Given the description of an element on the screen output the (x, y) to click on. 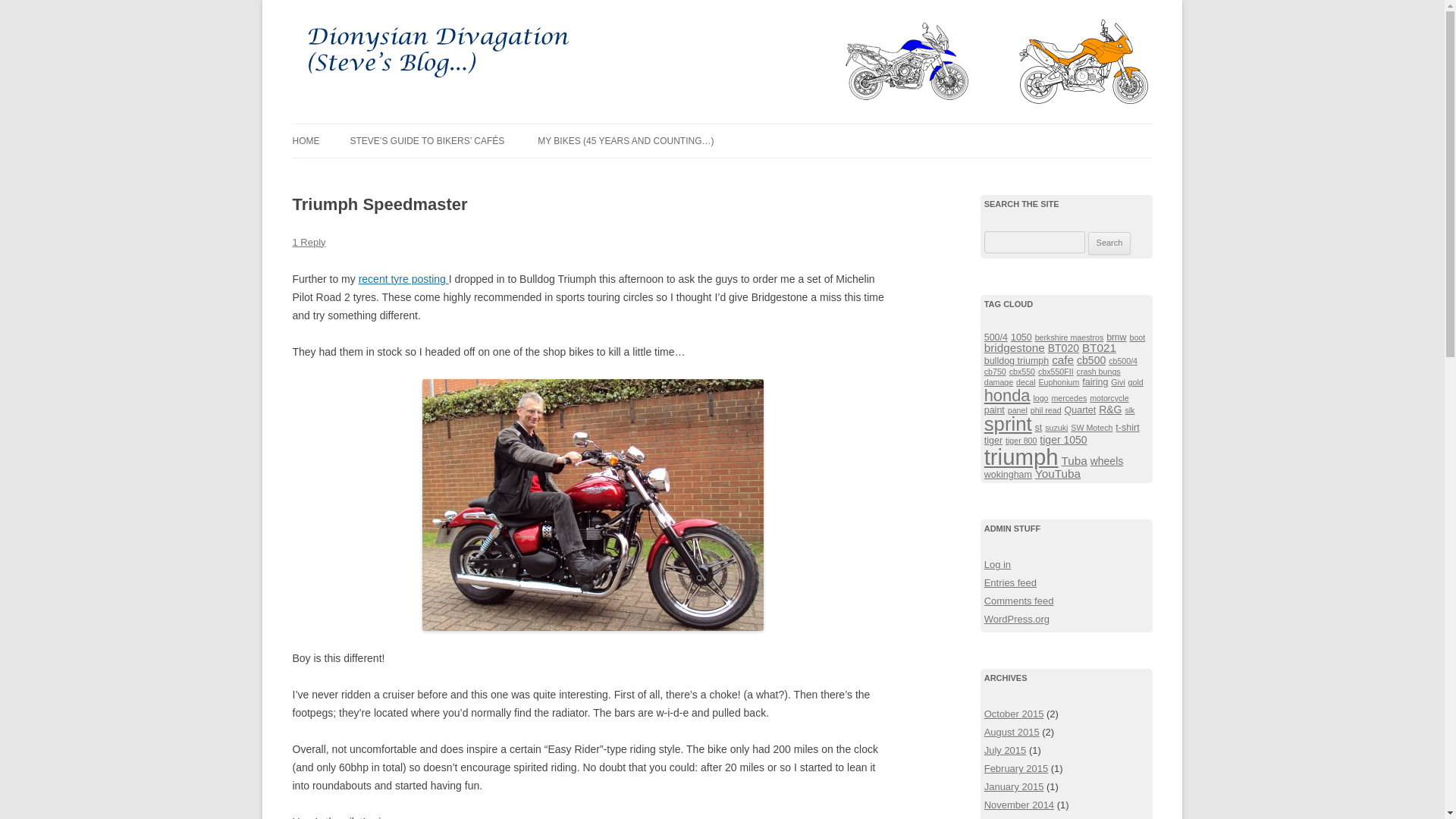
1 Reply (309, 242)
Steve on the Speedmaster Apr11  (592, 504)
TALES OF NGK (612, 173)
Search (1109, 242)
recent tyre posting (403, 278)
